Given the description of an element on the screen output the (x, y) to click on. 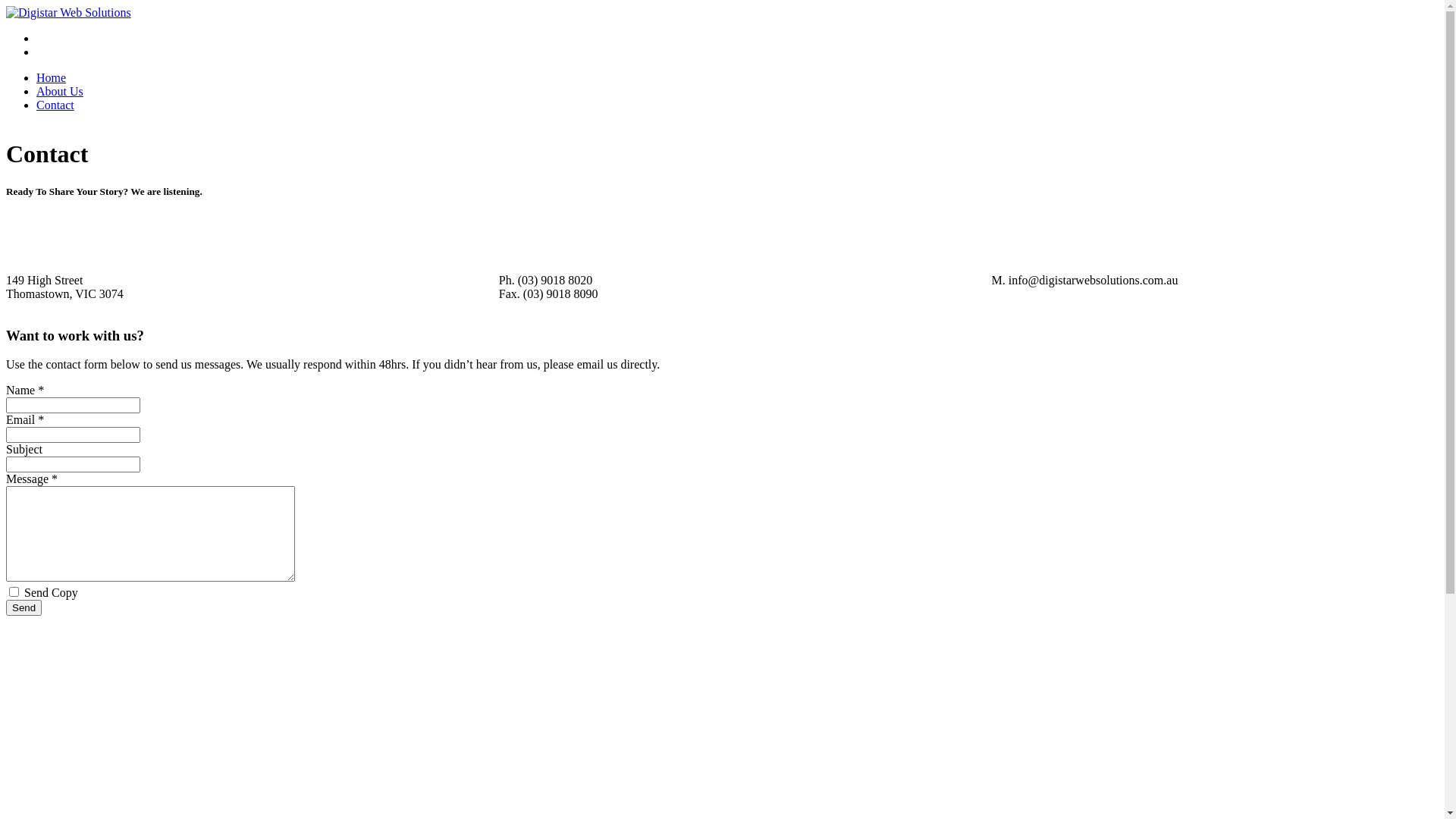
Contact Element type: text (55, 104)
Digistar Web Solutions Element type: hover (68, 12)
About Us Element type: text (59, 90)
Send Element type: text (23, 607)
Digistar Web Solutions Element type: hover (68, 12)
Home Element type: text (50, 77)
